Given the description of an element on the screen output the (x, y) to click on. 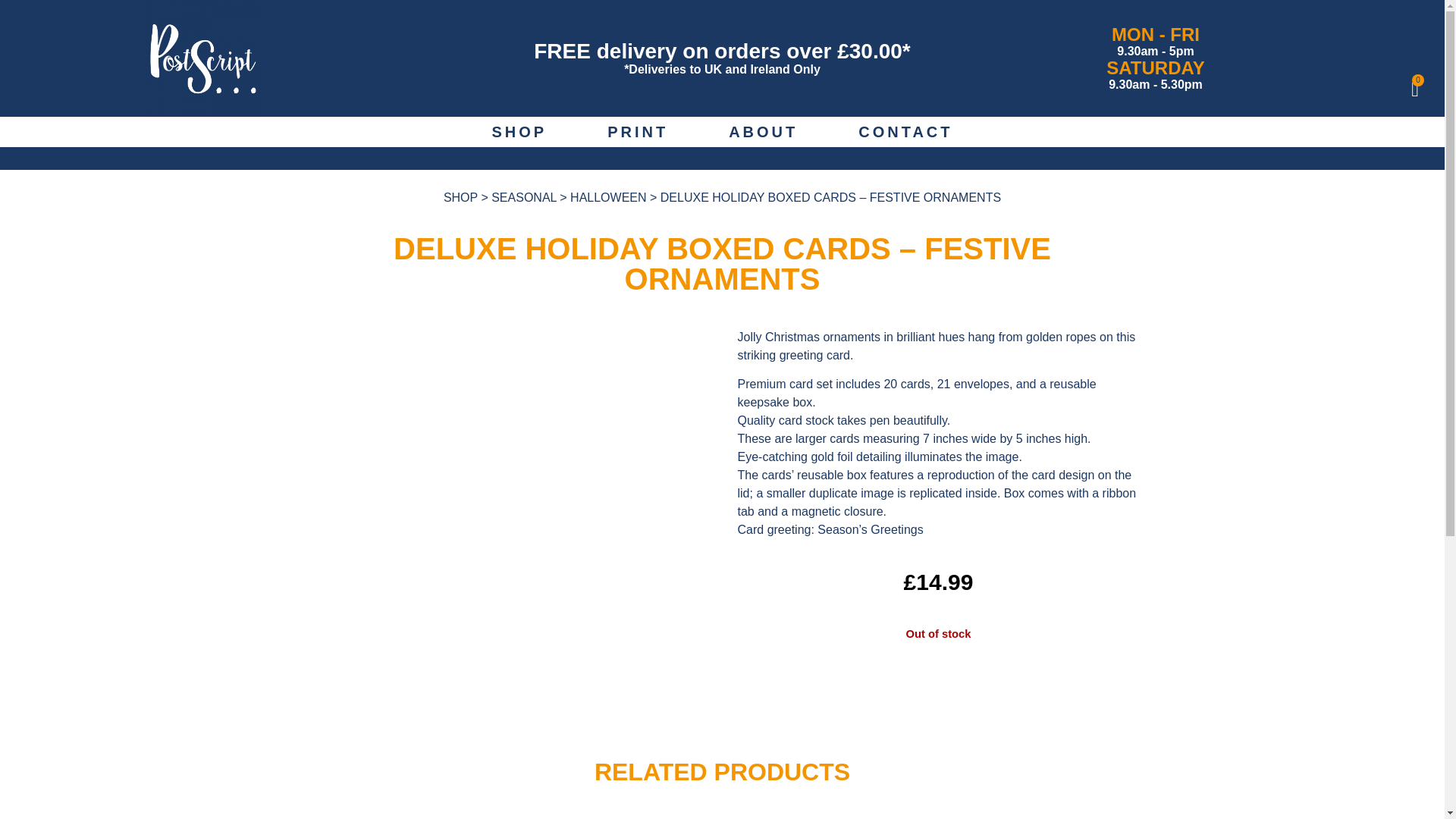
0 (1415, 89)
CONTACT (905, 131)
SEASONAL (524, 196)
ABOUT (762, 131)
HALLOWEEN (608, 196)
PRINT (637, 131)
SHOP (519, 131)
SHOP (460, 196)
